Given the description of an element on the screen output the (x, y) to click on. 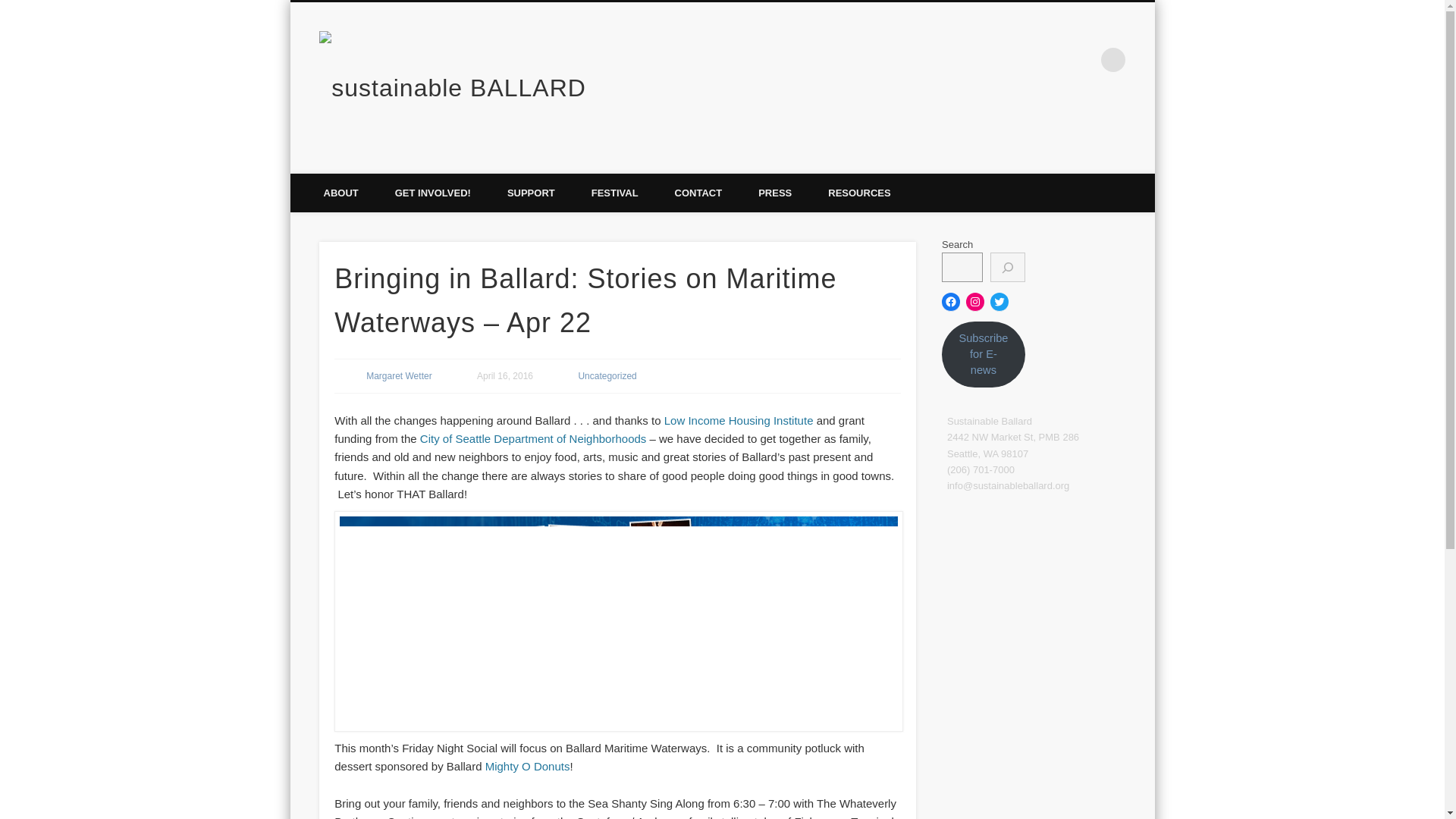
Twitter (1018, 59)
Facebook (986, 59)
Search (11, 7)
Our activities (433, 192)
We need you (531, 192)
FESTIVAL (614, 192)
Learn more (339, 192)
ABOUT (339, 192)
Join us Sept 28! (614, 192)
Posts by Margaret Wetter (398, 376)
